Given the description of an element on the screen output the (x, y) to click on. 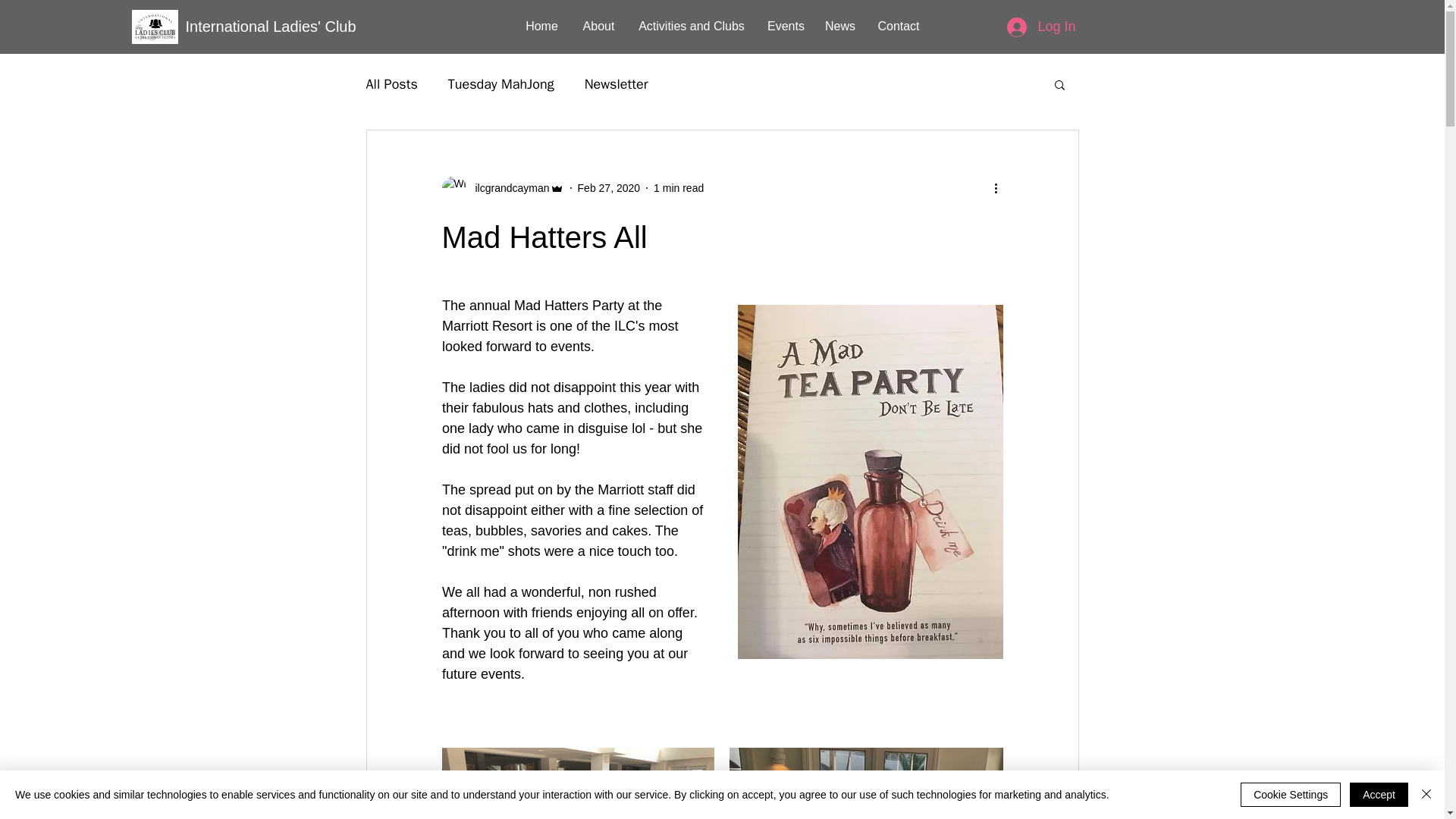
1 min read (678, 187)
ilcgrandcayman (506, 188)
All Posts (390, 84)
Home (541, 26)
About (598, 26)
ilcgrandcayman (502, 187)
Activities and Clubs (691, 26)
Tuesday MahJong (501, 84)
Events (154, 26)
Cookie Settings (784, 26)
News (1290, 794)
Feb 27, 2020 (839, 26)
Accept (154, 26)
